Given the description of an element on the screen output the (x, y) to click on. 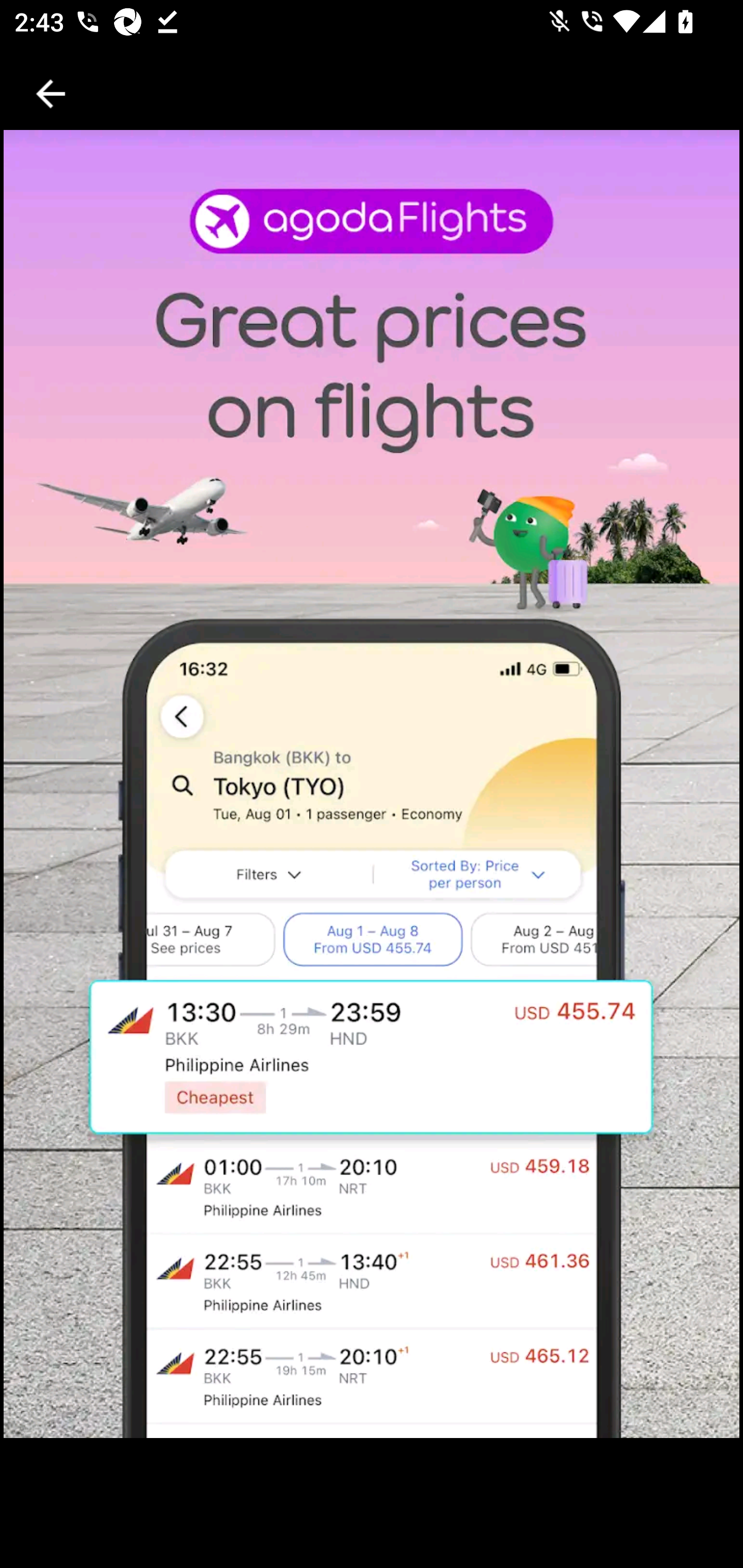
Back (50, 93)
